Given the description of an element on the screen output the (x, y) to click on. 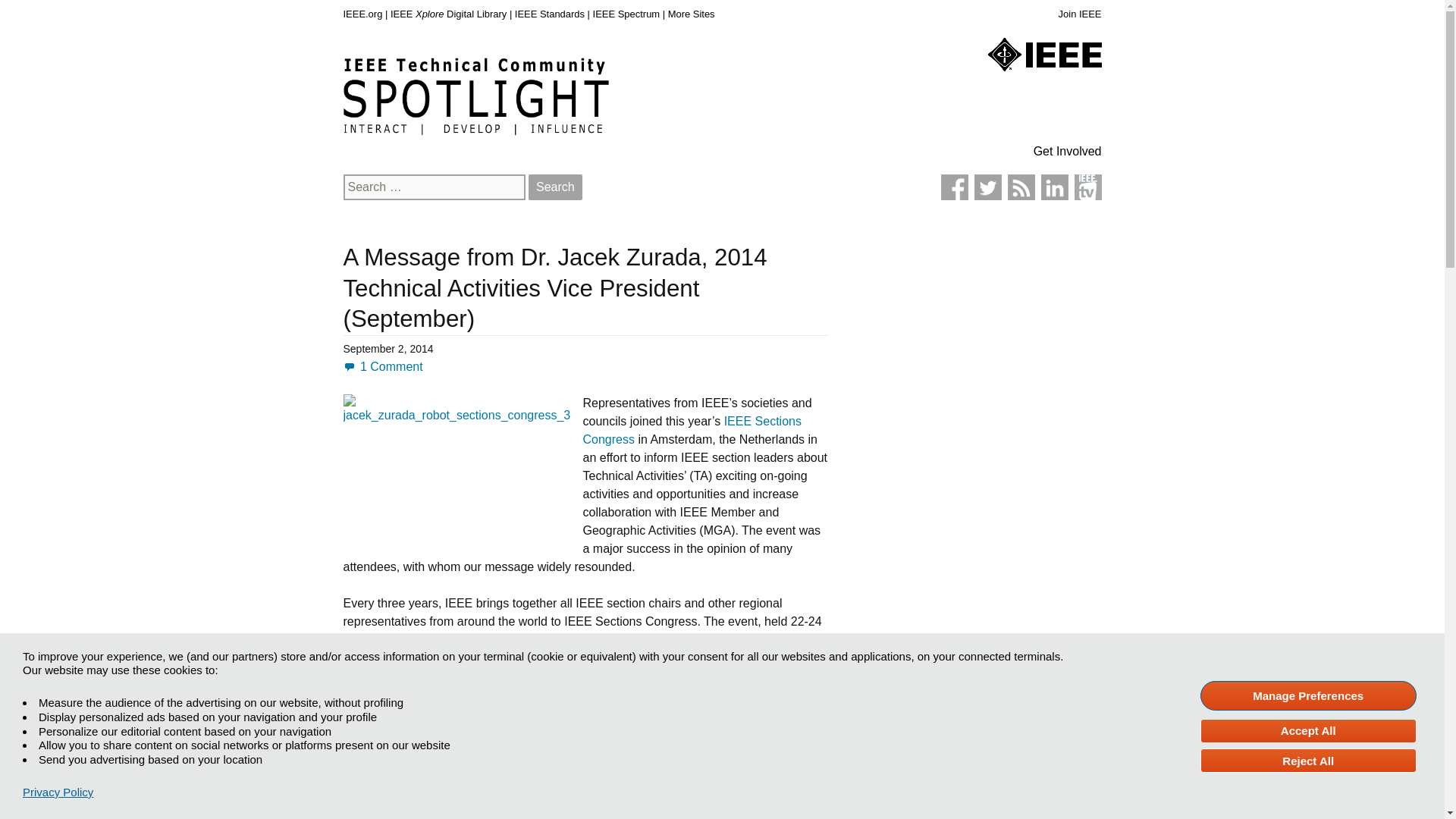
1 Comment (382, 366)
Manage Preferences (1307, 695)
Twitter (987, 187)
IEEE Sections Congress (691, 429)
Reject All (1307, 760)
Search (555, 186)
LinkedIn (1054, 187)
Join IEEE (1080, 13)
Privacy Policy (58, 792)
IEEE Spectrum (626, 13)
Search (555, 186)
More Sites (691, 13)
IEEE Standards (550, 13)
IEEE Xplore Digital Library (448, 13)
